Given the description of an element on the screen output the (x, y) to click on. 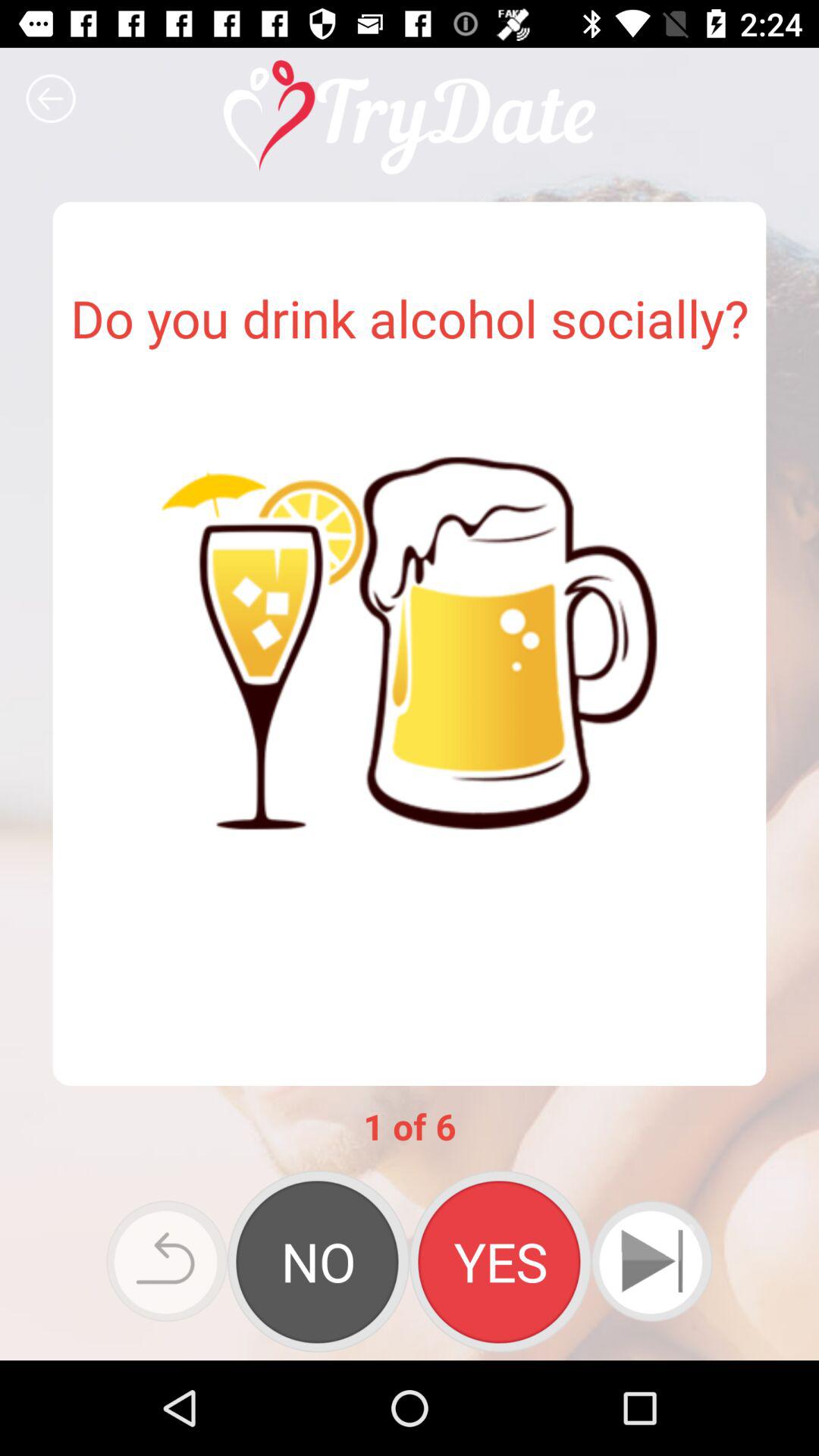
go to previous (166, 1260)
